Given the description of an element on the screen output the (x, y) to click on. 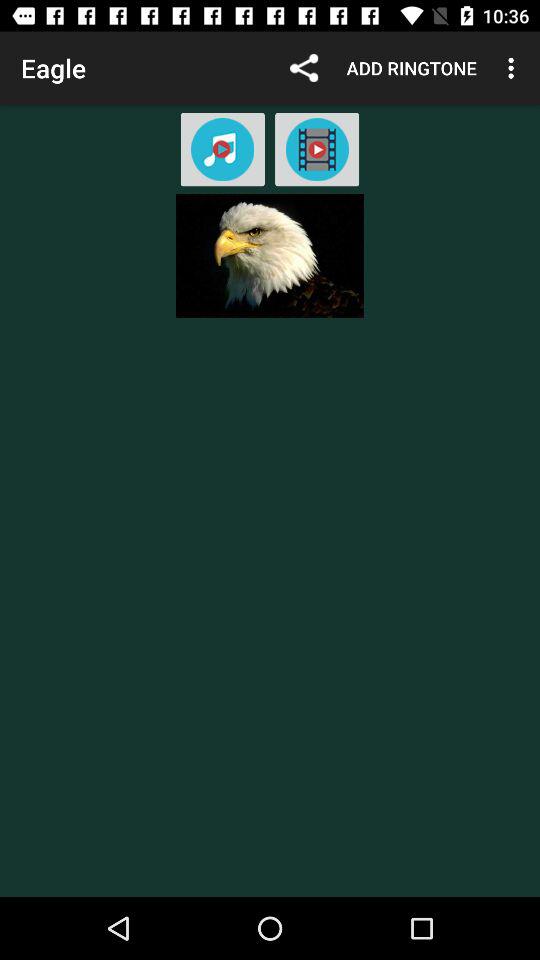
turn off icon to the left of the add ringtone (304, 67)
